Given the description of an element on the screen output the (x, y) to click on. 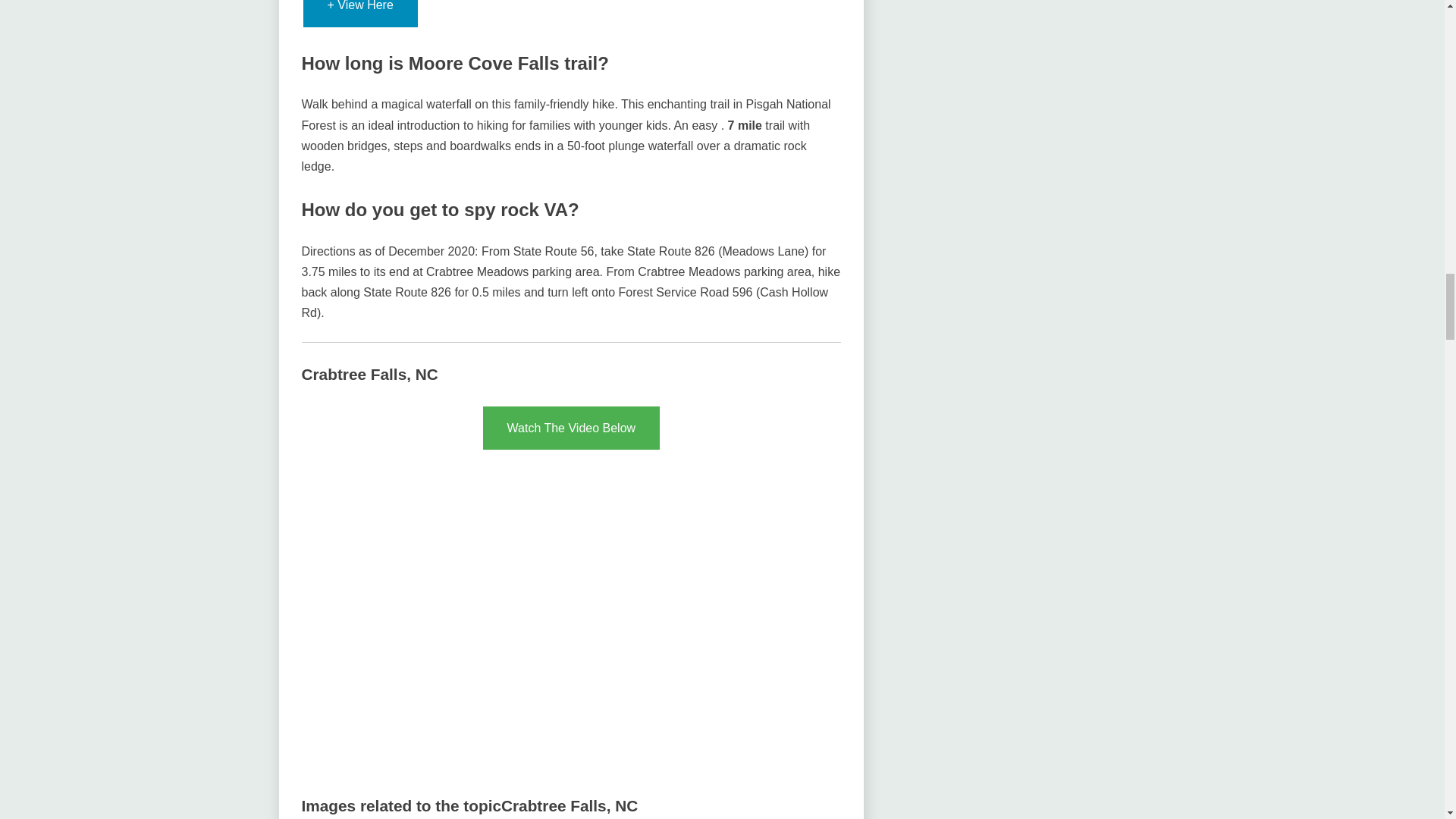
Watch The Video Below (572, 427)
